Given the description of an element on the screen output the (x, y) to click on. 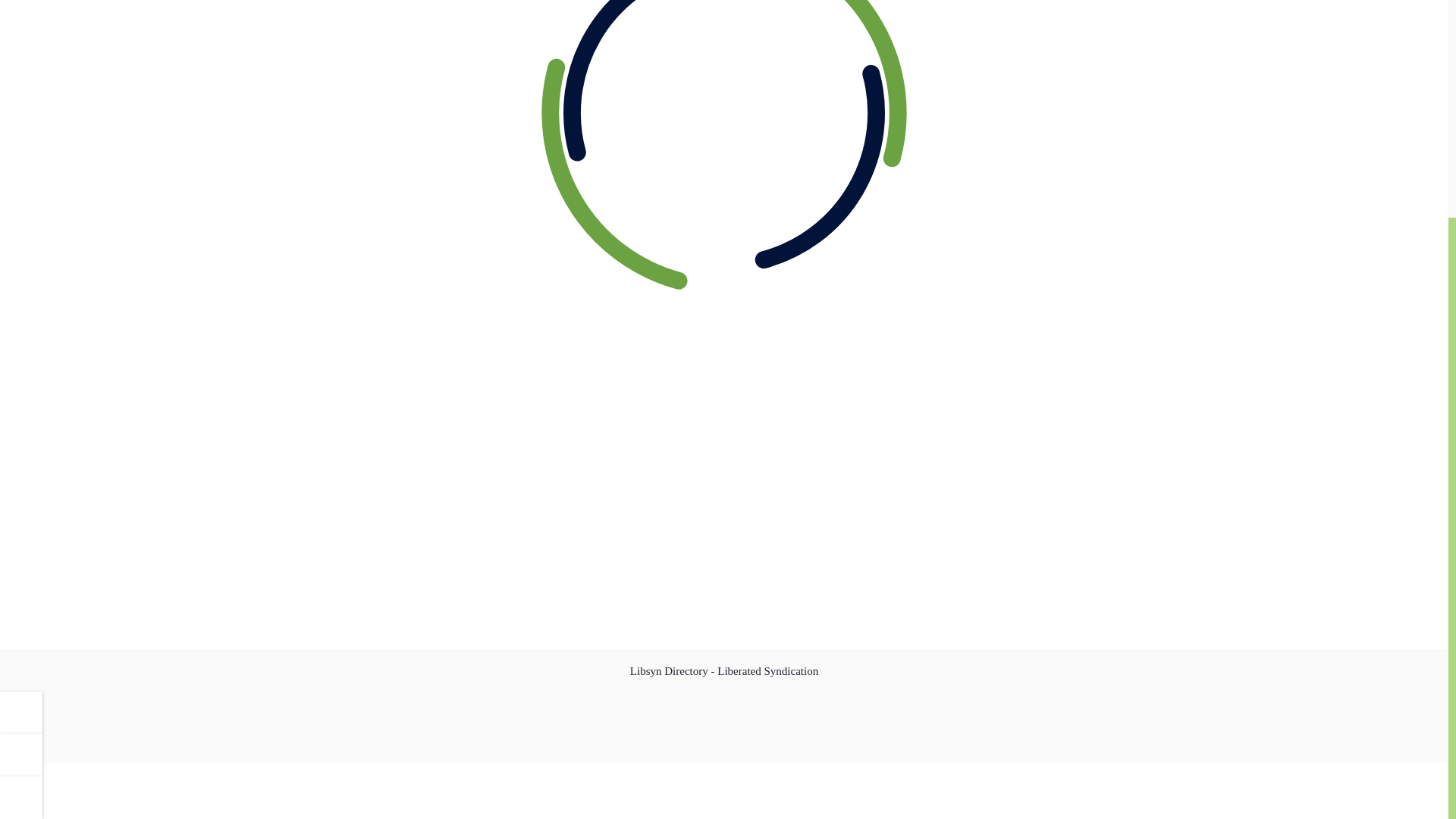
Liberated Syndication (767, 671)
